Given the description of an element on the screen output the (x, y) to click on. 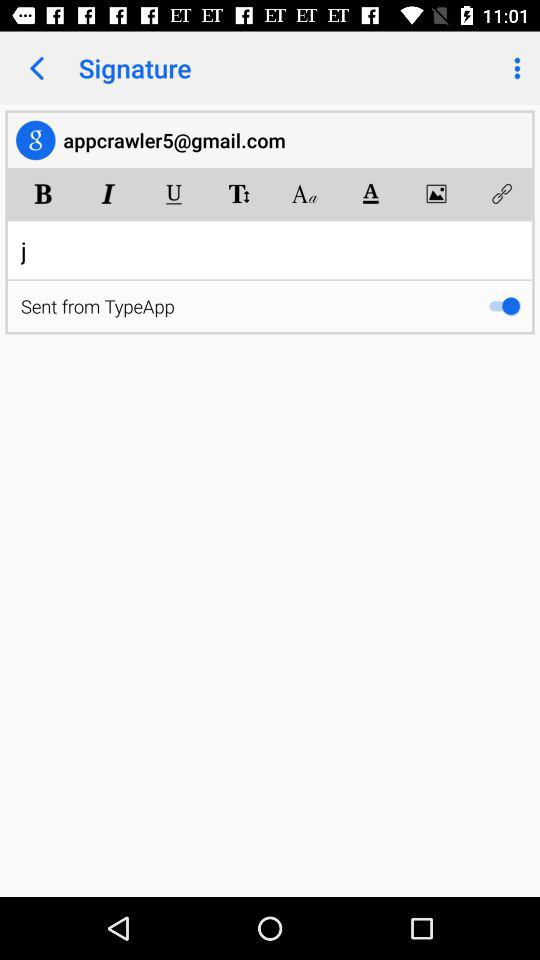
press the icon below the appcrawler5@gmail.com icon (108, 193)
